Given the description of an element on the screen output the (x, y) to click on. 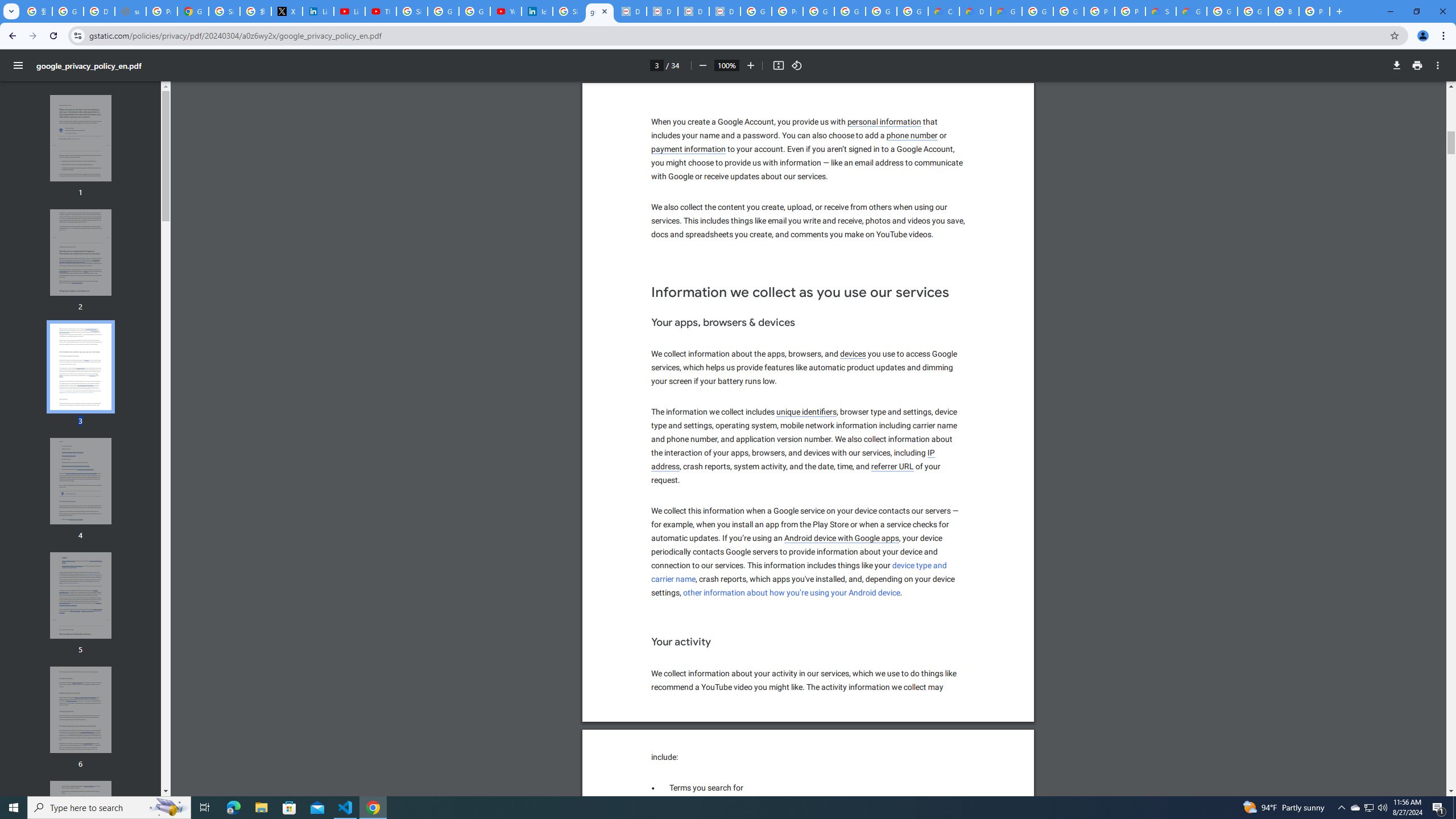
Identity verification via Persona | LinkedIn Help (536, 11)
Sign in - Google Accounts (223, 11)
Google Workspace - Specific Terms (912, 11)
Gemini for Business and Developers | Google Cloud (1005, 11)
Data Privacy Framework (662, 11)
Data Privacy Framework (693, 11)
Page number (656, 64)
Thumbnail for page 3 (80, 366)
unique identifiers (806, 412)
